Given the description of an element on the screen output the (x, y) to click on. 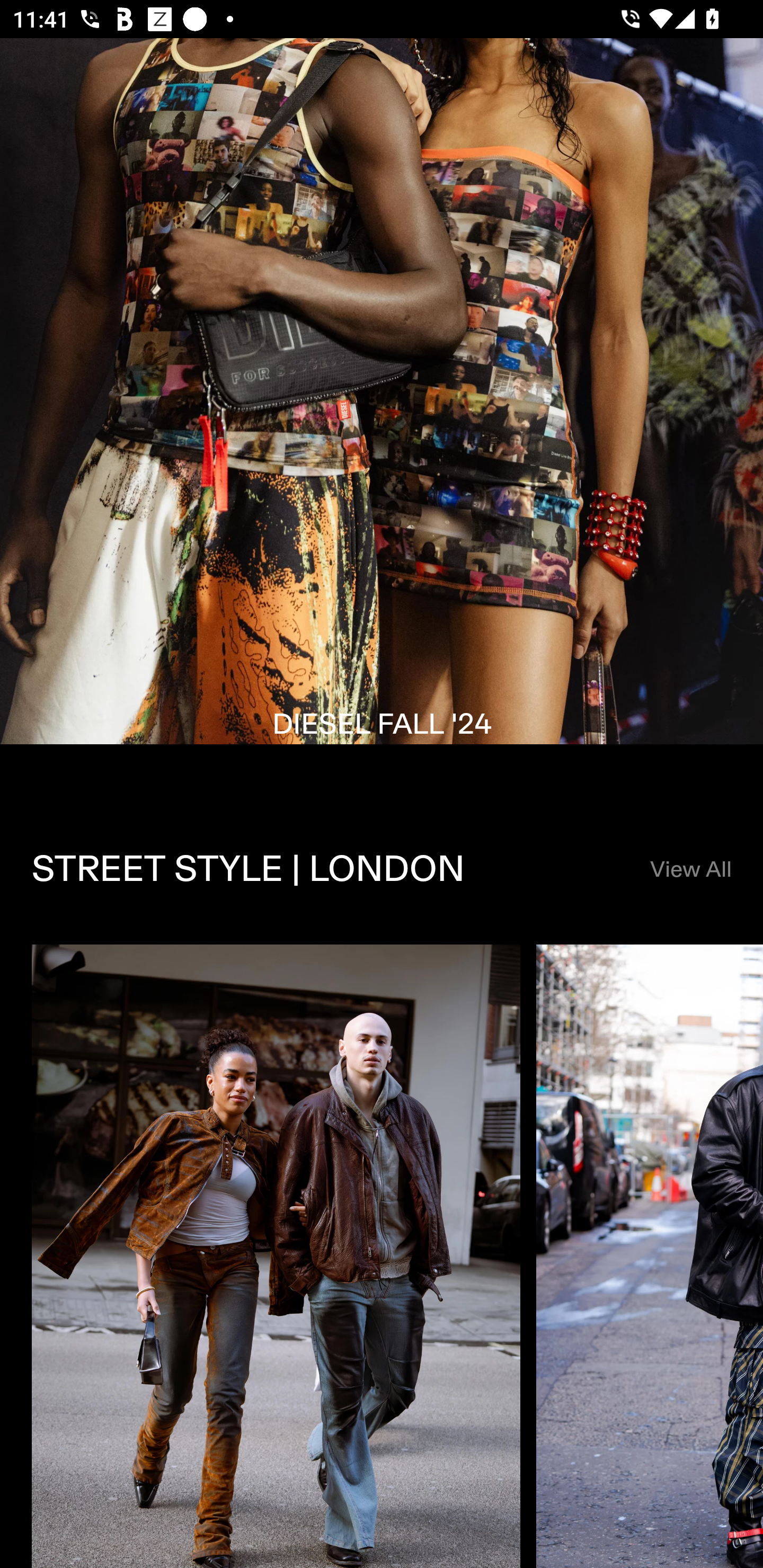
FIRST LOOKS DIESEL FALL '24 (381, 415)
View All (690, 870)
